Given the description of an element on the screen output the (x, y) to click on. 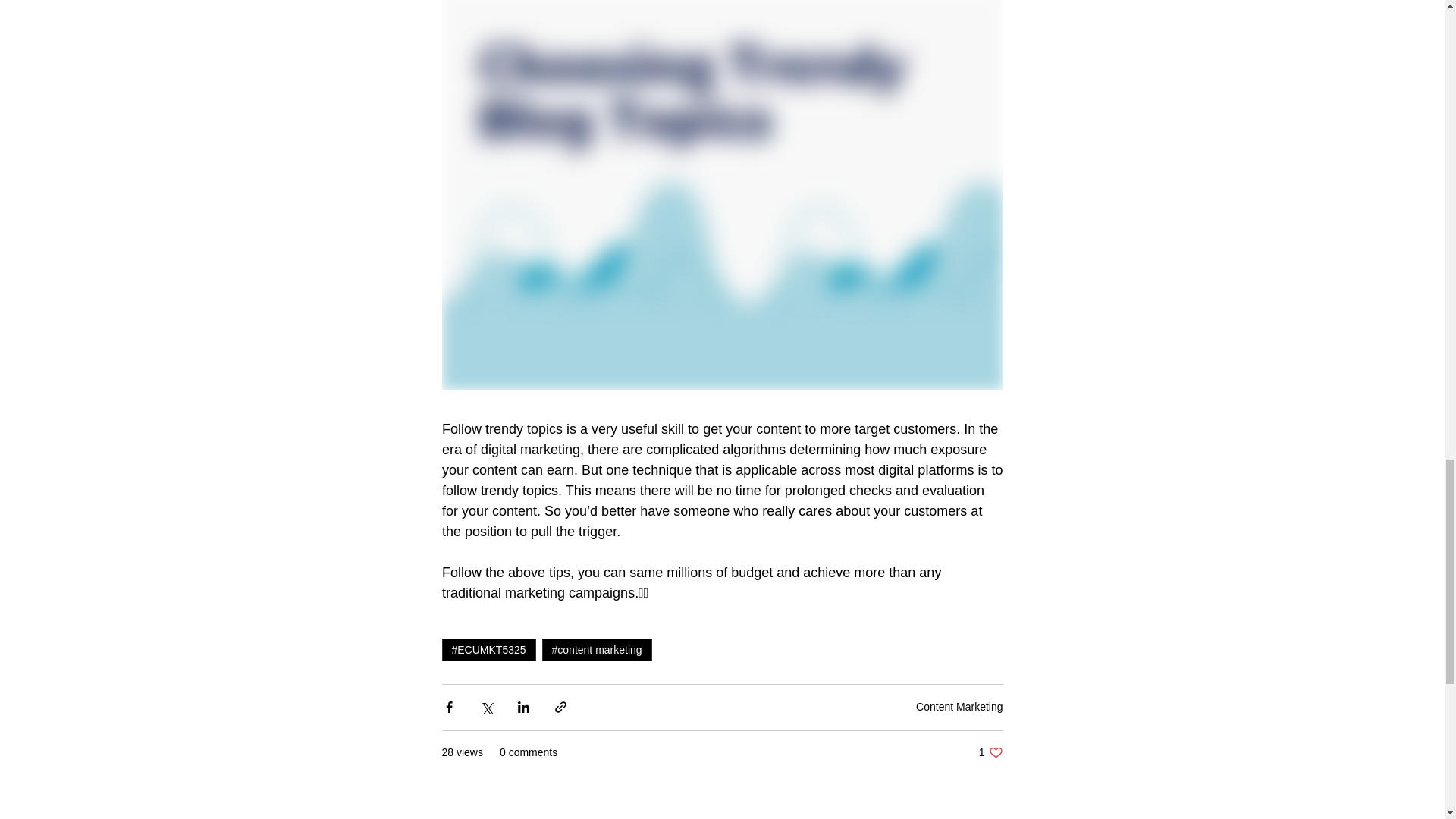
Content Marketing (959, 706)
